Given the description of an element on the screen output the (x, y) to click on. 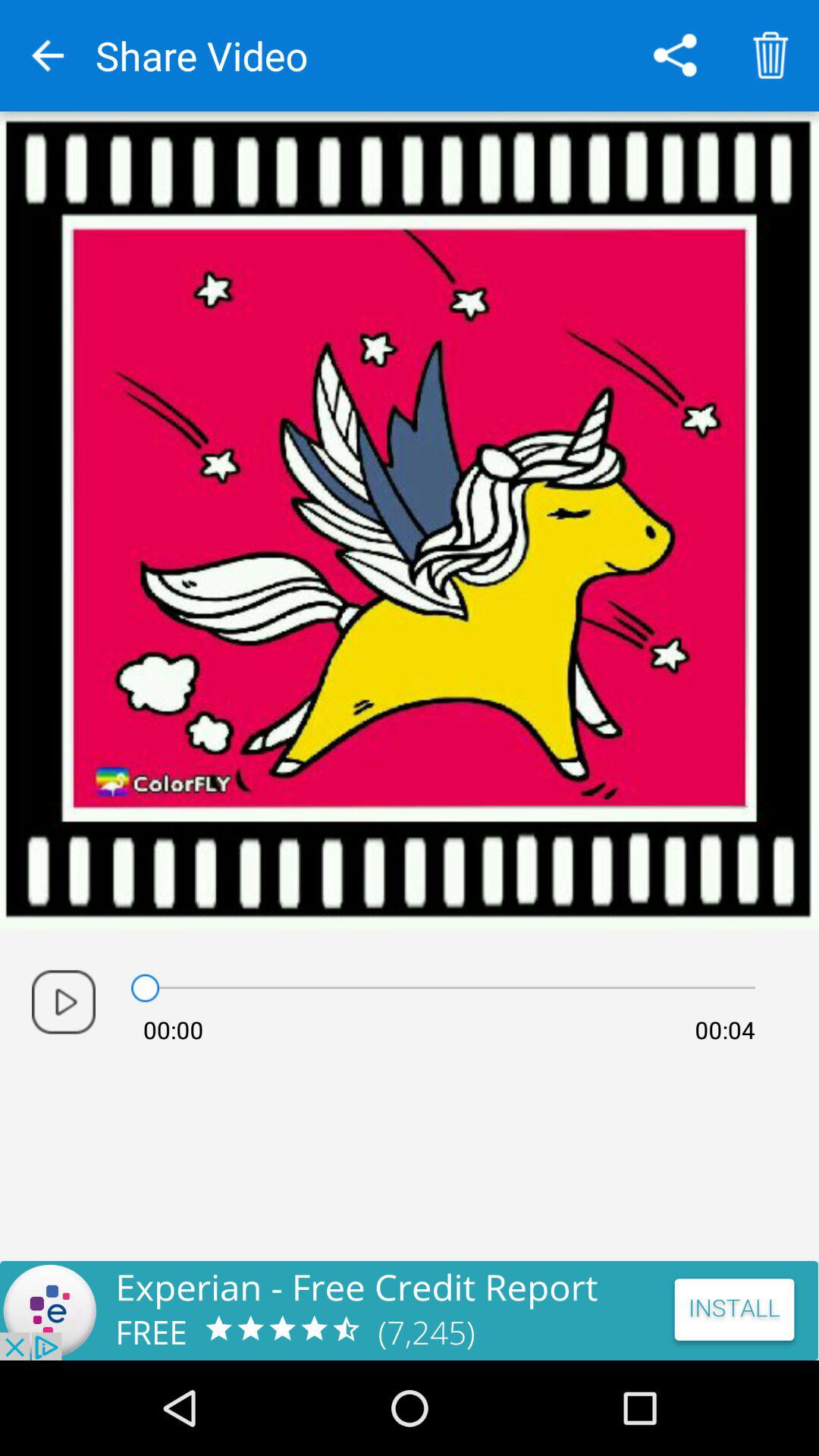
view advertisement (409, 1310)
